Given the description of an element on the screen output the (x, y) to click on. 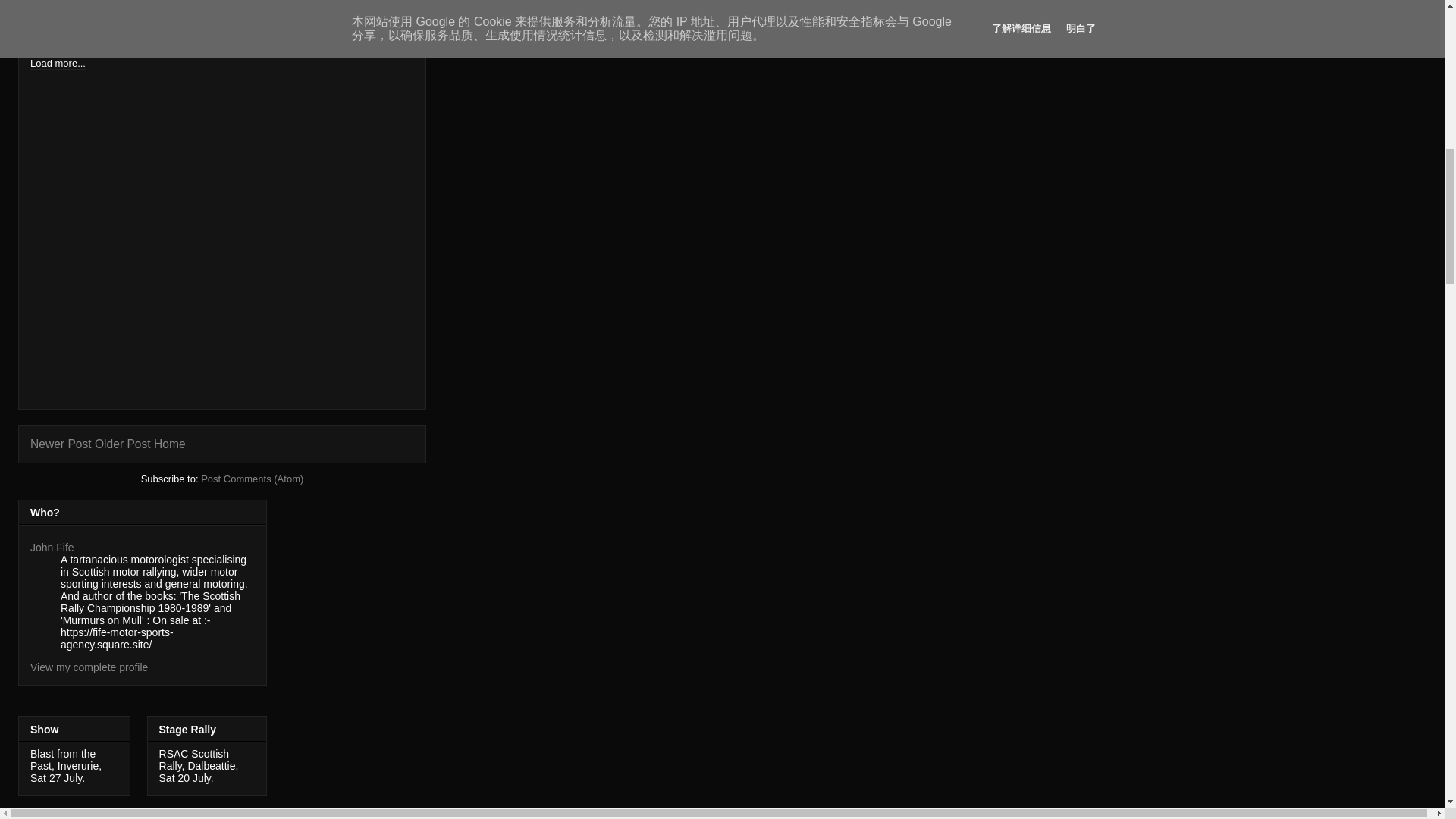
Add comment (60, 51)
Older Post (122, 443)
Load more... (57, 62)
Home (170, 443)
Delete (100, 5)
Reply (103, 29)
View my complete profile (89, 666)
Reply (73, 5)
Older Post (122, 443)
Newer Post (60, 443)
Newer Post (60, 443)
Replies (77, 16)
John Fife (52, 547)
